Given the description of an element on the screen output the (x, y) to click on. 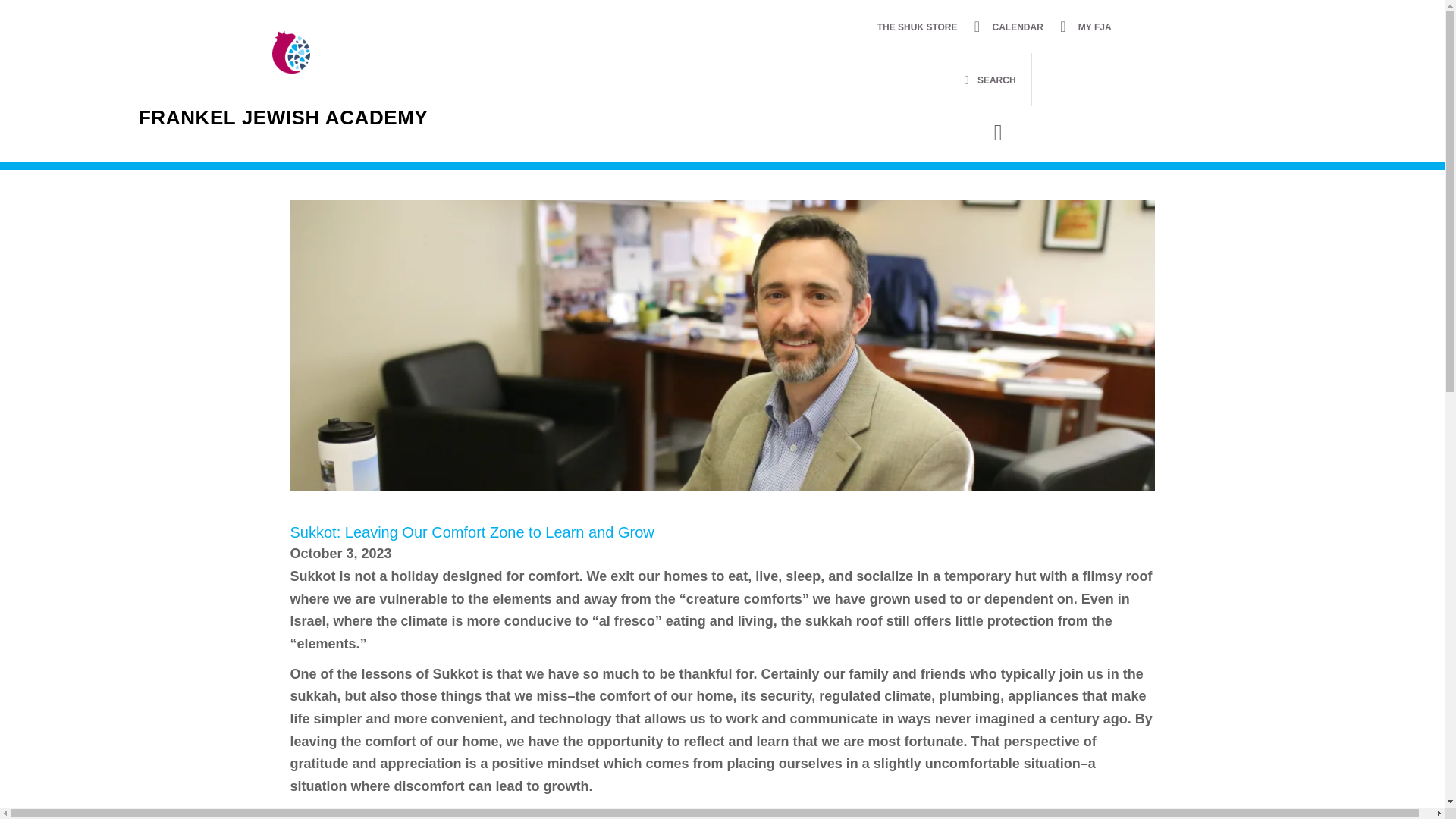
THE SHUK STORE (917, 27)
FRANKEL JEWISH ACADEMY (283, 117)
SEARCH (989, 79)
Frankel Jewish Academy (283, 117)
FJAIcon3-Color (291, 51)
CALENDAR (1017, 27)
MY FJA (1095, 27)
